Given the description of an element on the screen output the (x, y) to click on. 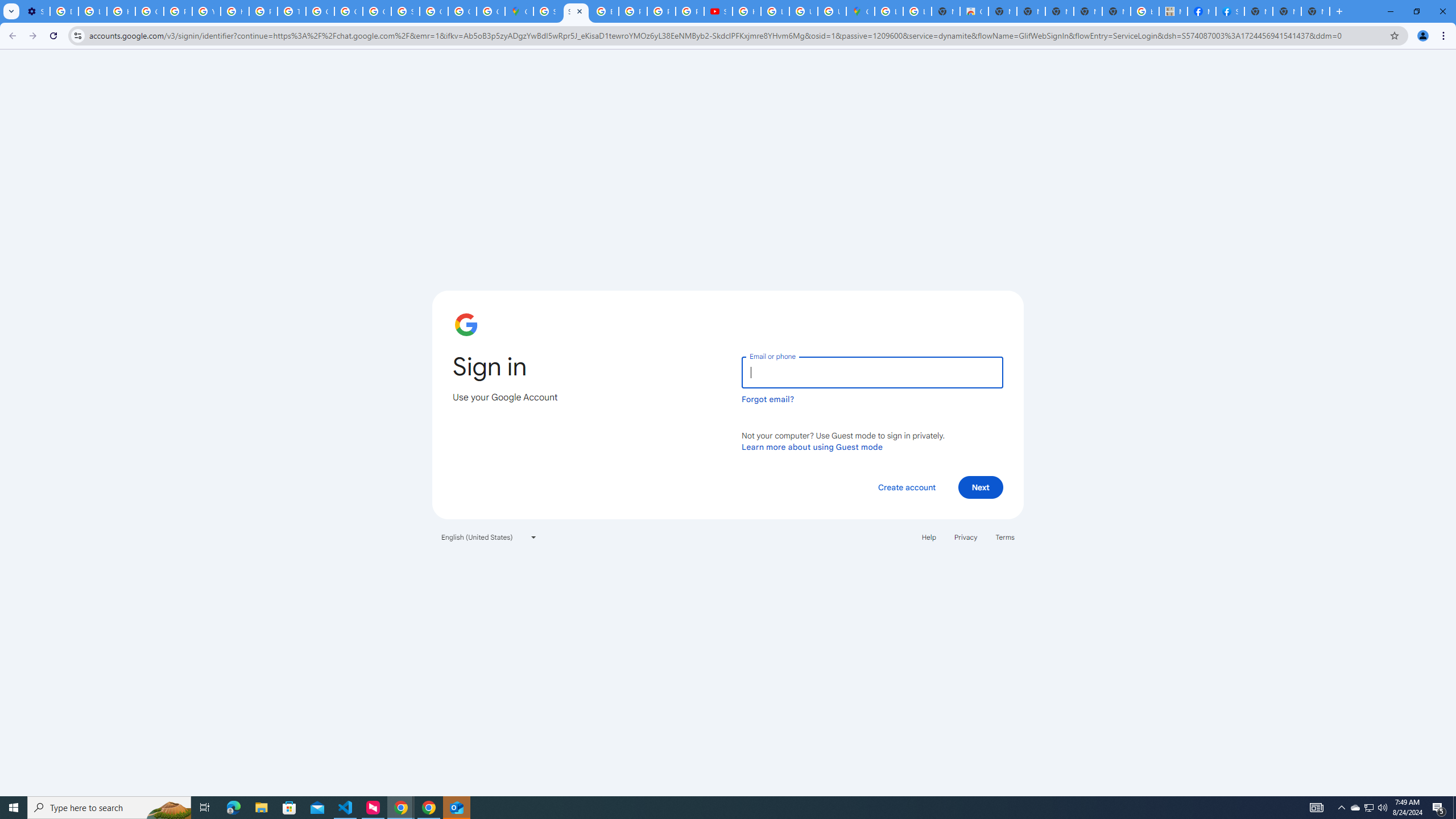
Google Maps (860, 11)
Learn more about using Guest mode (812, 446)
Address and search bar (735, 35)
Sign in - Google Accounts (405, 11)
Privacy Help Center - Policies Help (263, 11)
Terms (1005, 536)
Subscriptions - YouTube (718, 11)
